Given the description of an element on the screen output the (x, y) to click on. 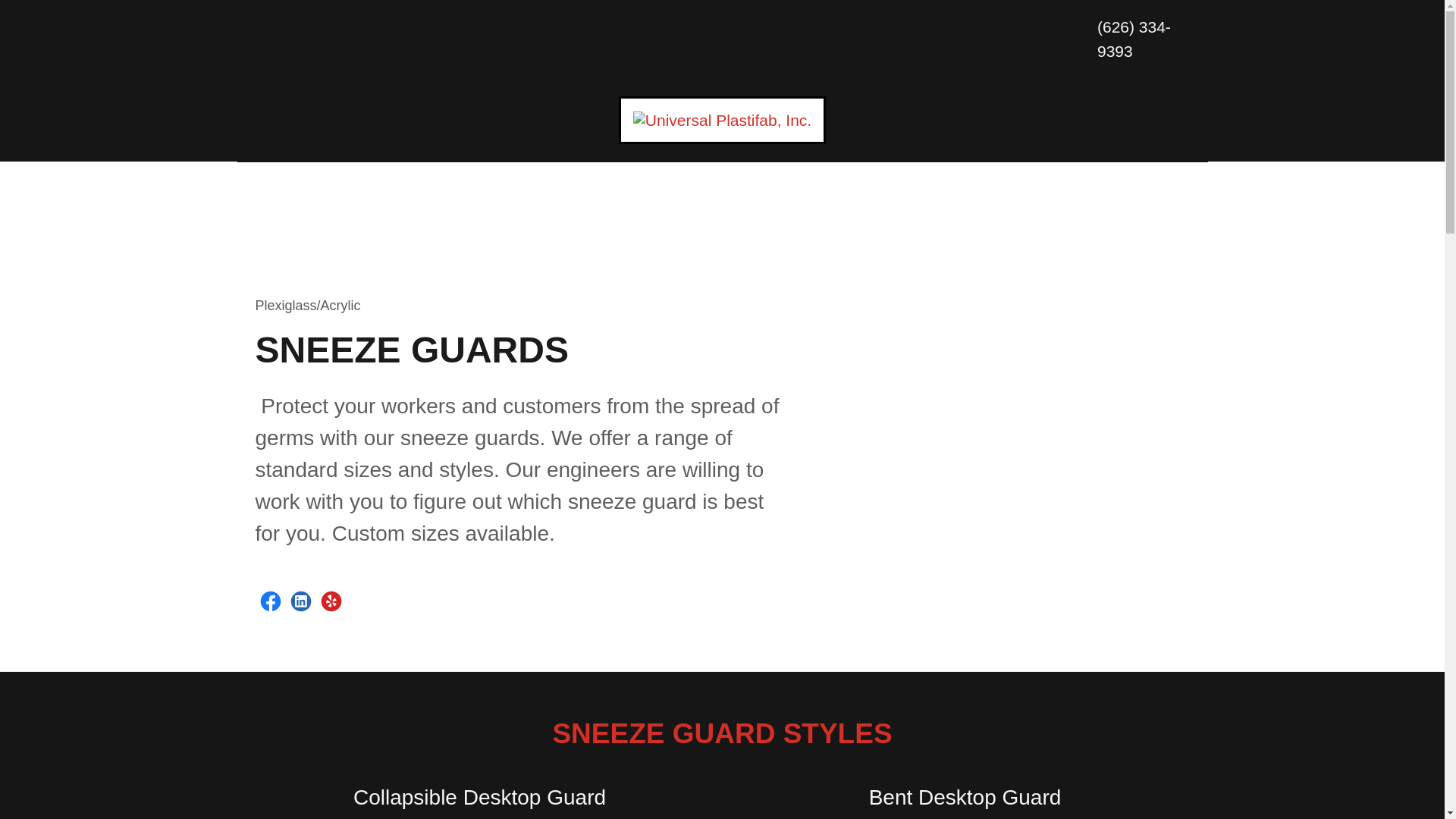
Universal Plastifab, Inc. (721, 118)
